Given the description of an element on the screen output the (x, y) to click on. 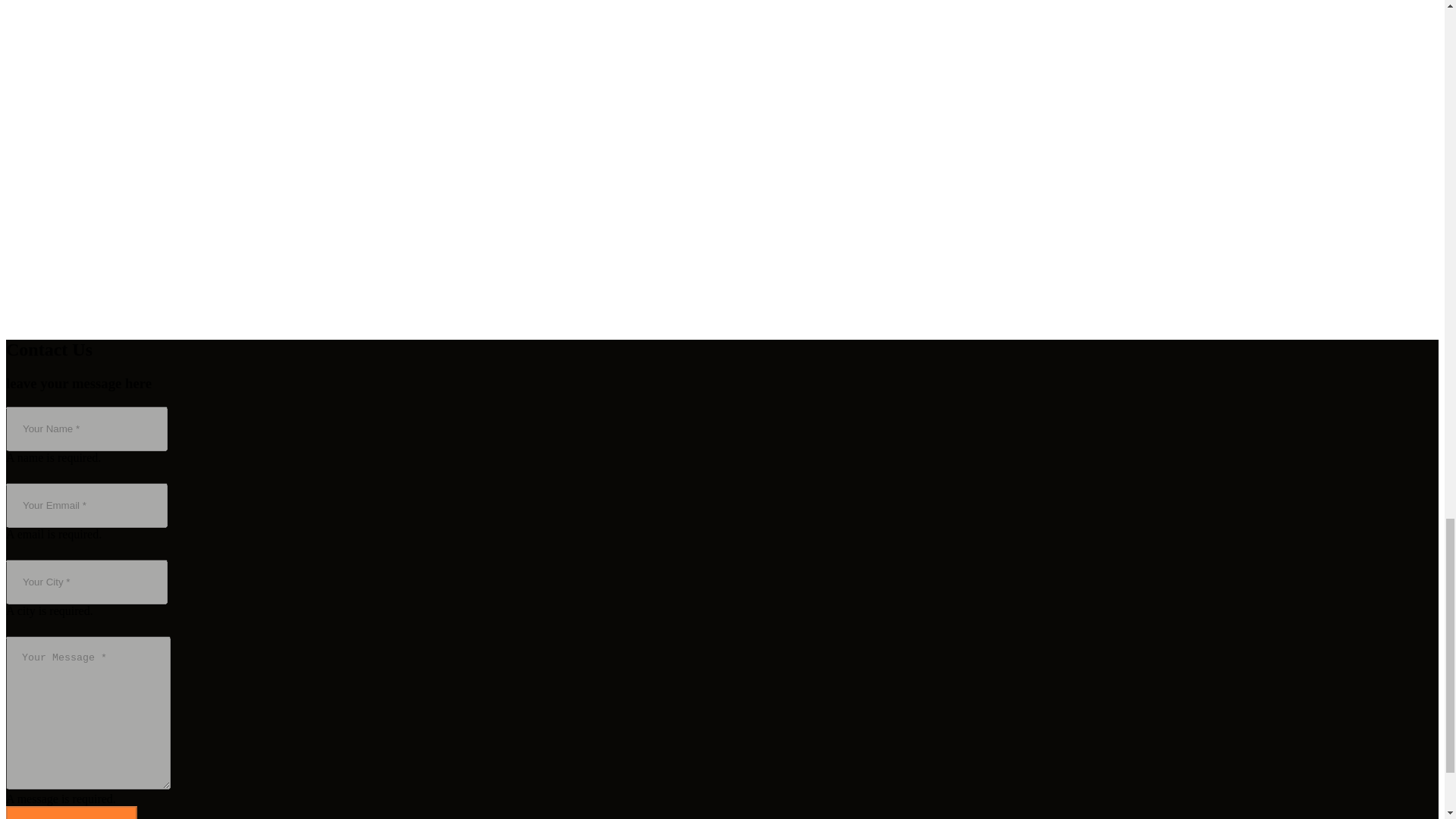
Send Message (70, 812)
